Given the description of an element on the screen output the (x, y) to click on. 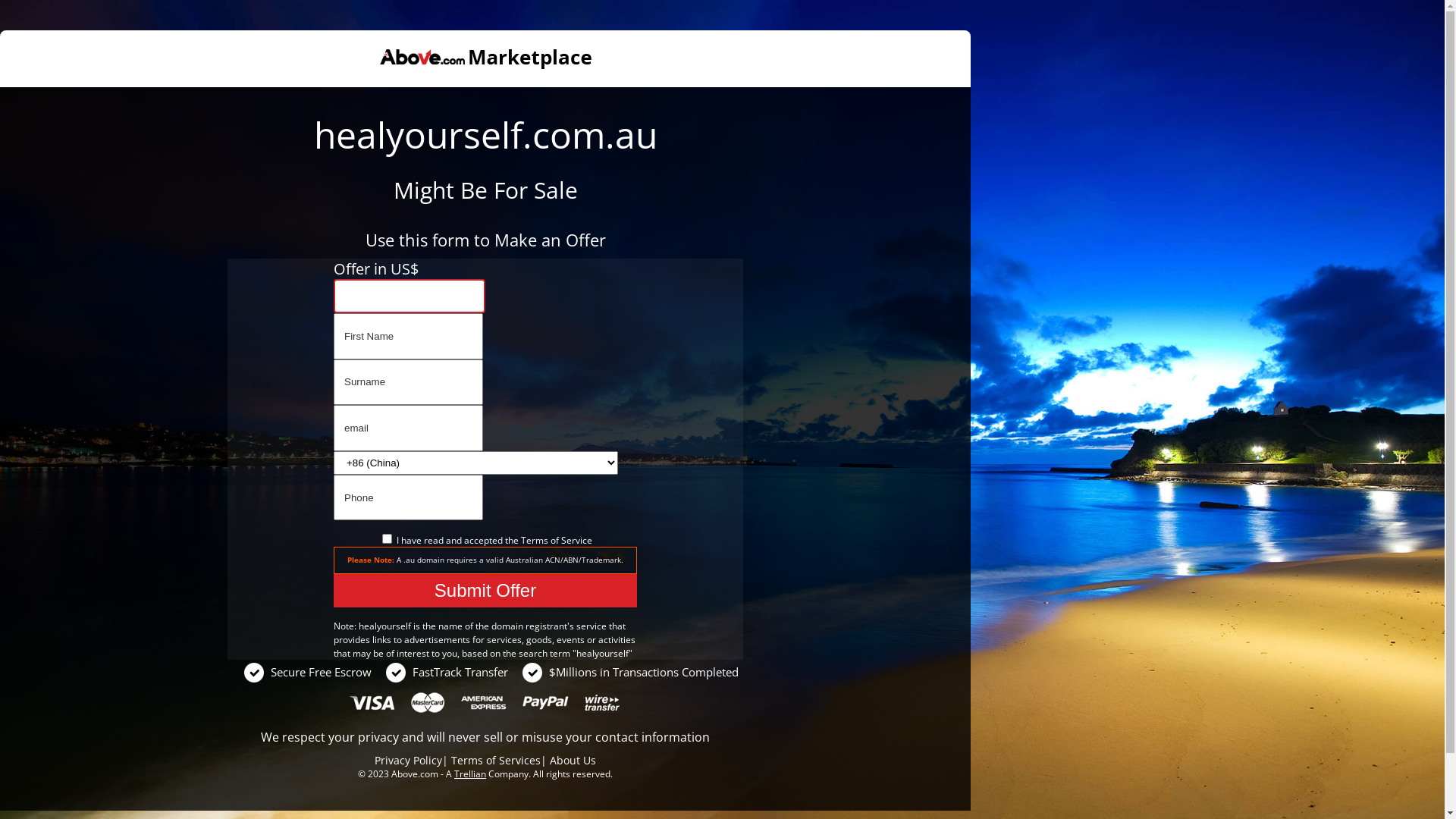
Terms of Services Element type: text (495, 760)
Terms Element type: text (533, 539)
Trellian Element type: text (470, 773)
About Us Element type: text (572, 760)
Privacy Policy Element type: text (408, 760)
Submit Offer Element type: text (485, 590)
